Given the description of an element on the screen output the (x, y) to click on. 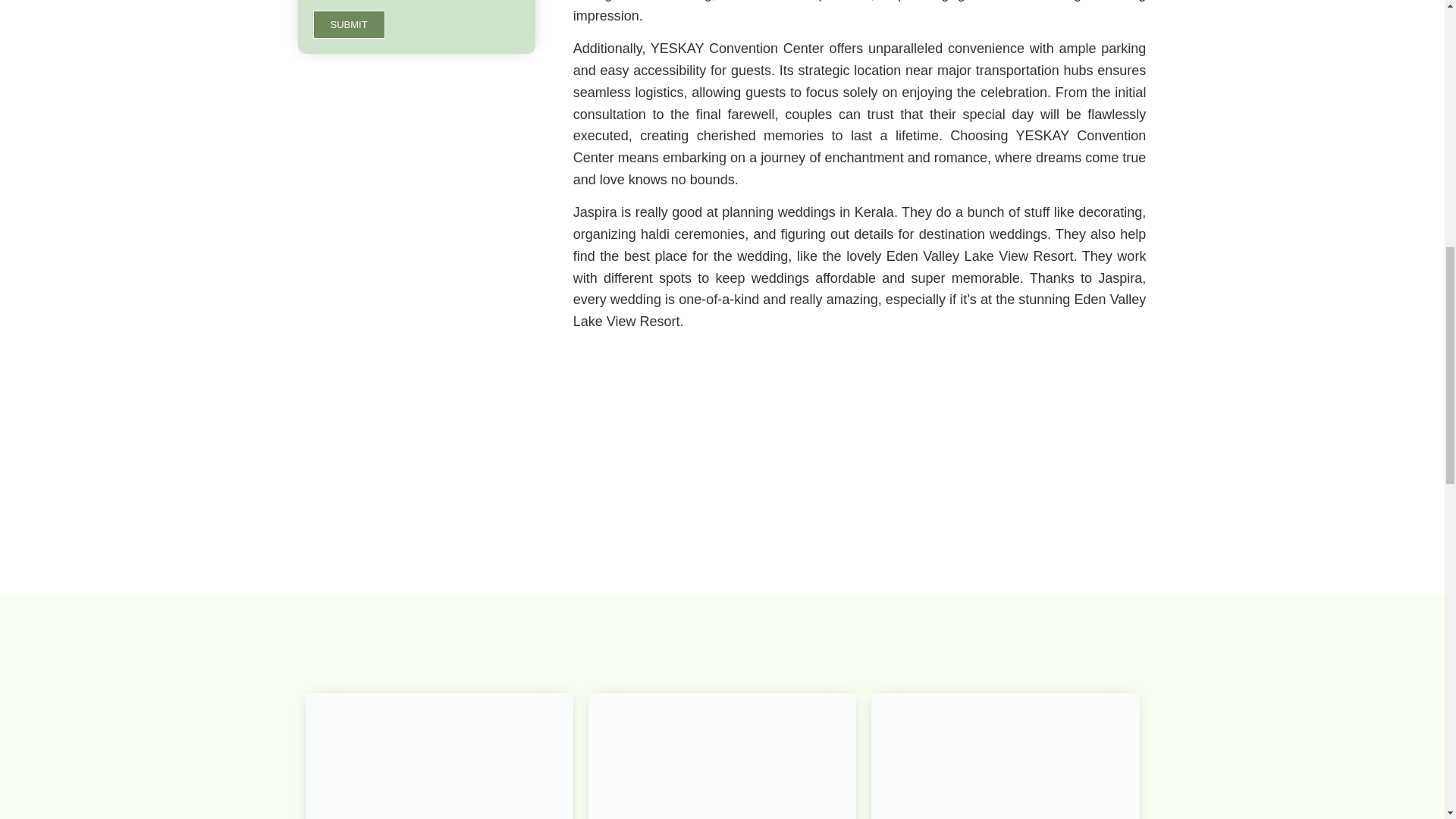
Udaya Samudra Leisure Beach Hotel (438, 755)
The Village In Kochi W (722, 755)
Kshetra Retreat In Varkala (1004, 755)
